Given the description of an element on the screen output the (x, y) to click on. 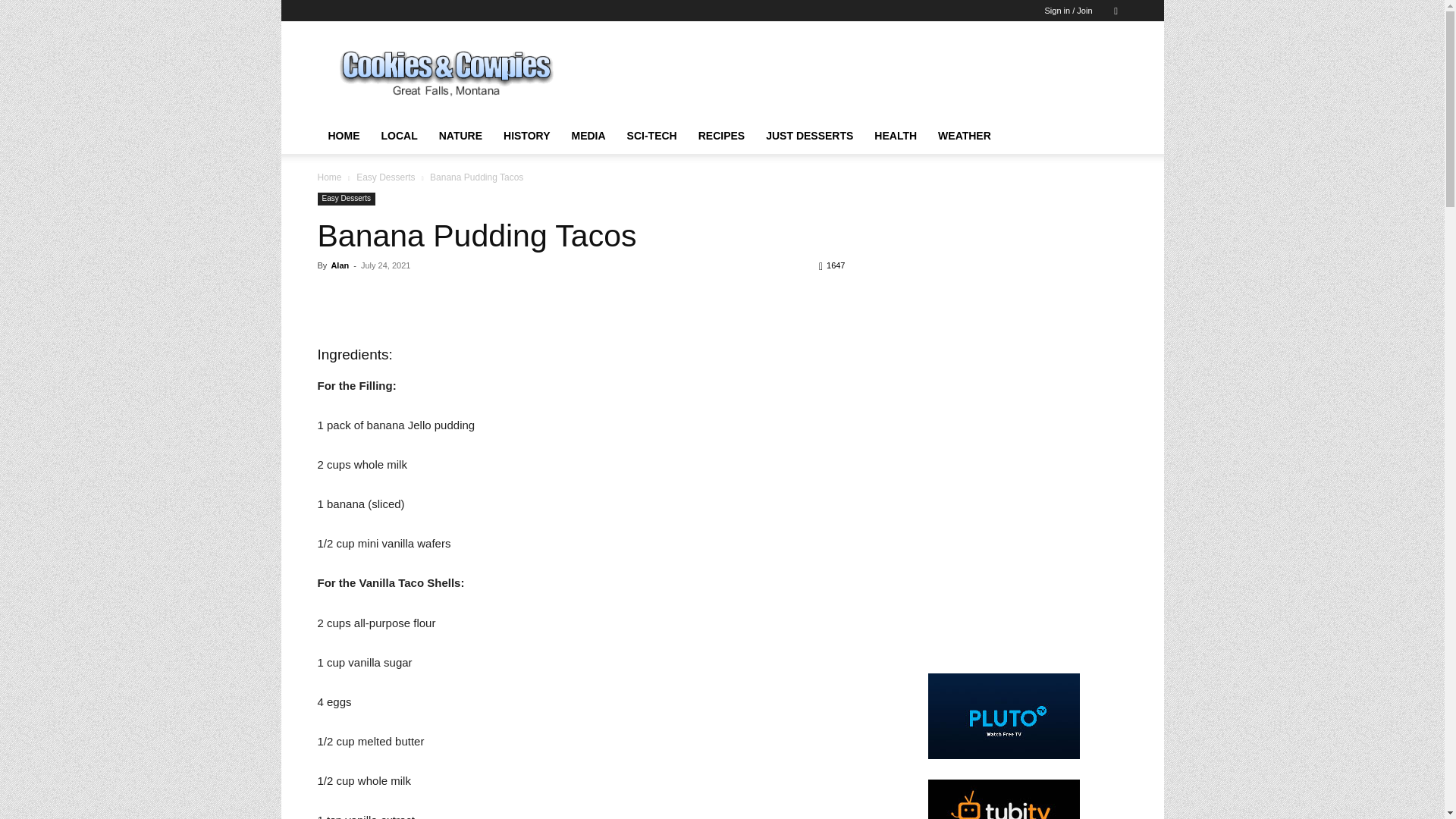
NATURE (460, 135)
LOCAL (398, 135)
Search (1085, 64)
HISTORY (526, 135)
Alan (339, 265)
JUST DESSERTS (809, 135)
View all posts in Easy Desserts (385, 176)
RECIPES (721, 135)
Easy Desserts (385, 176)
MEDIA (587, 135)
